Given the description of an element on the screen output the (x, y) to click on. 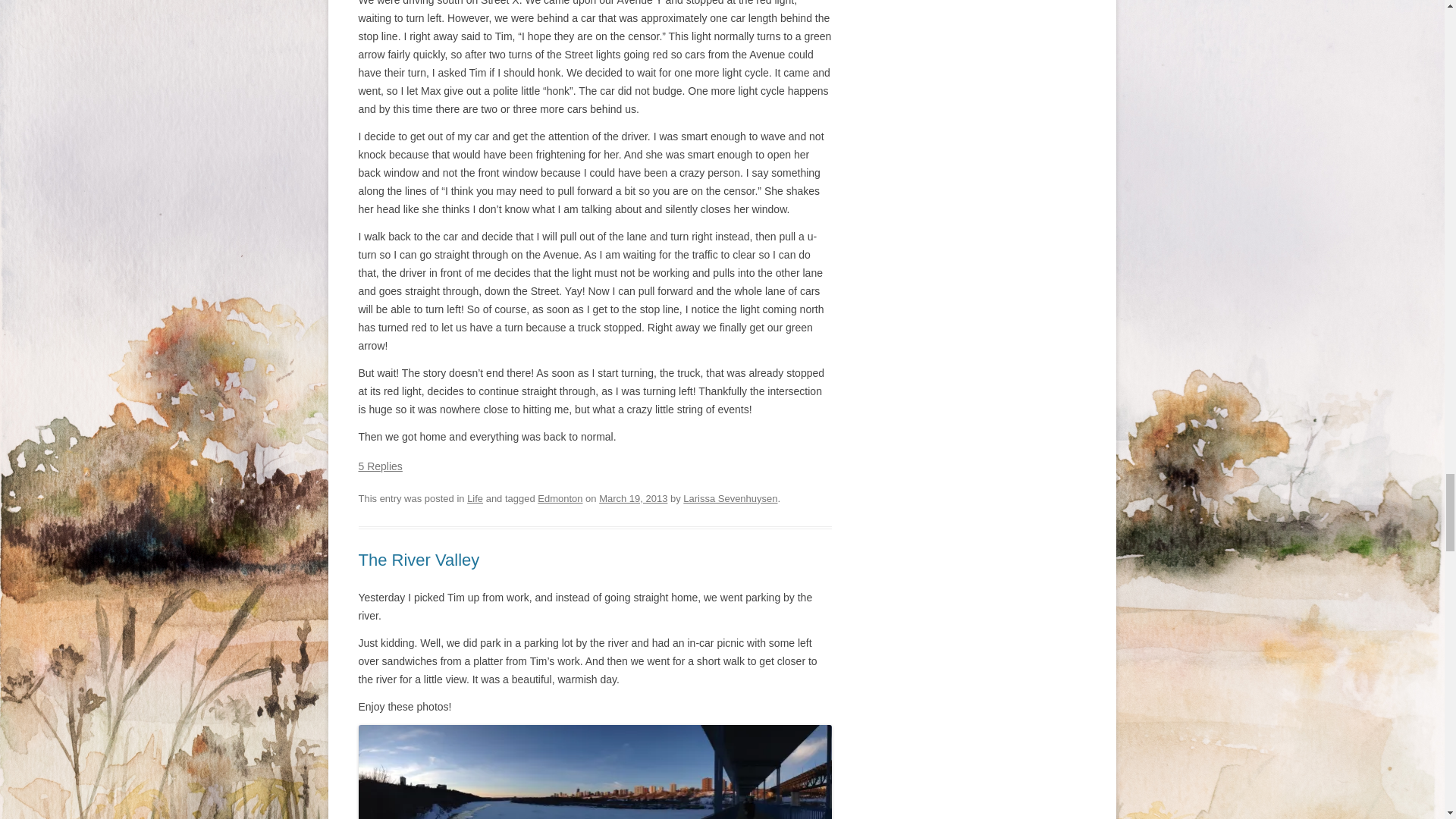
March 19, 2013 (632, 498)
Permalink to The River Valley (418, 559)
View all posts by Larissa Sevenhuysen (729, 498)
Larissa Sevenhuysen (729, 498)
Life (475, 498)
5 Replies (379, 466)
Edmonton (559, 498)
10:35 pm (632, 498)
